Given the description of an element on the screen output the (x, y) to click on. 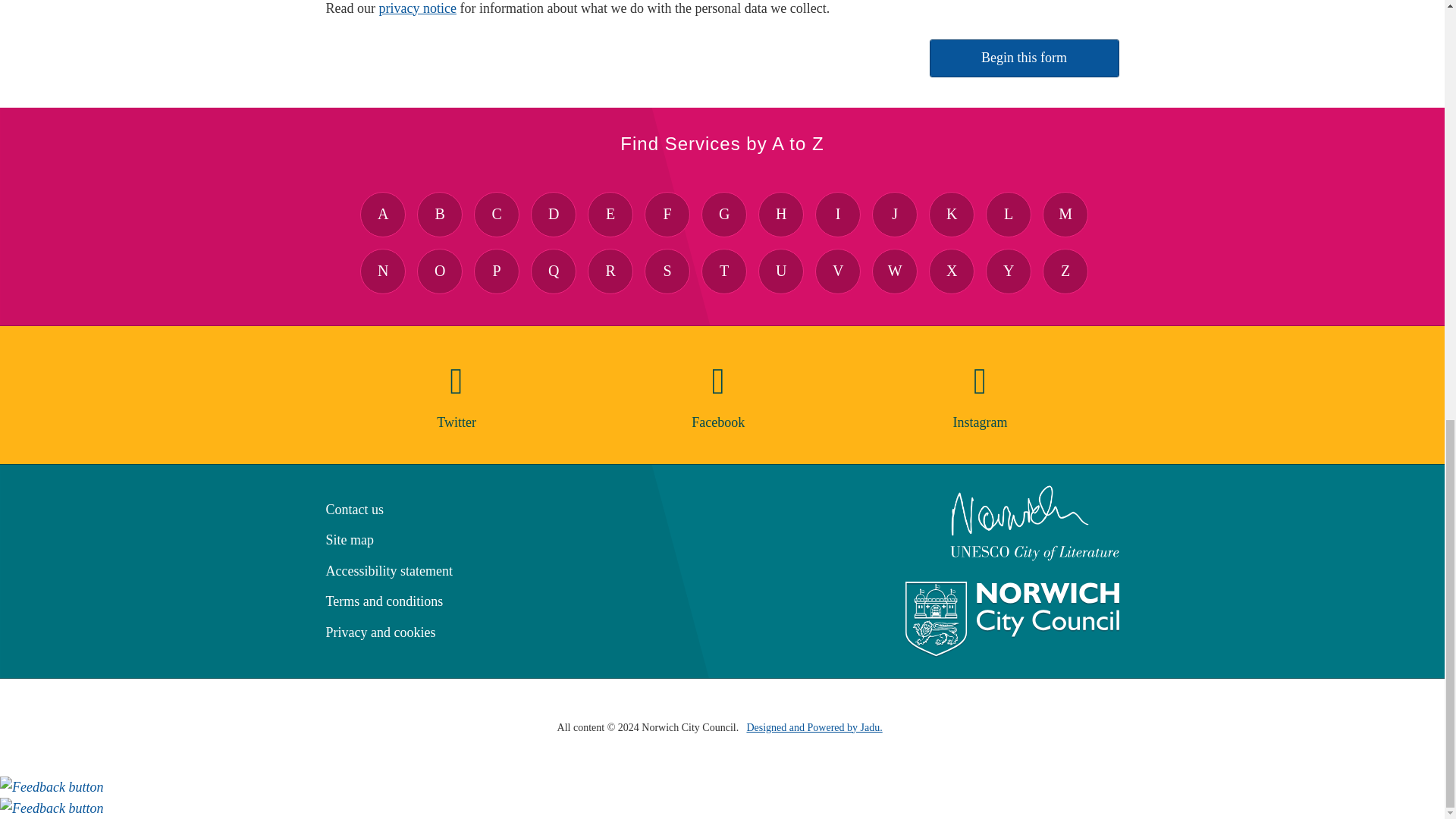
Begin this form (1024, 57)
Contact us (355, 509)
M (1064, 214)
J (894, 214)
H (780, 214)
Twitter (457, 397)
U (780, 271)
Instagram (979, 397)
V (837, 271)
N (382, 271)
C (496, 214)
B (439, 214)
W (894, 271)
I (837, 214)
O (439, 271)
